Given the description of an element on the screen output the (x, y) to click on. 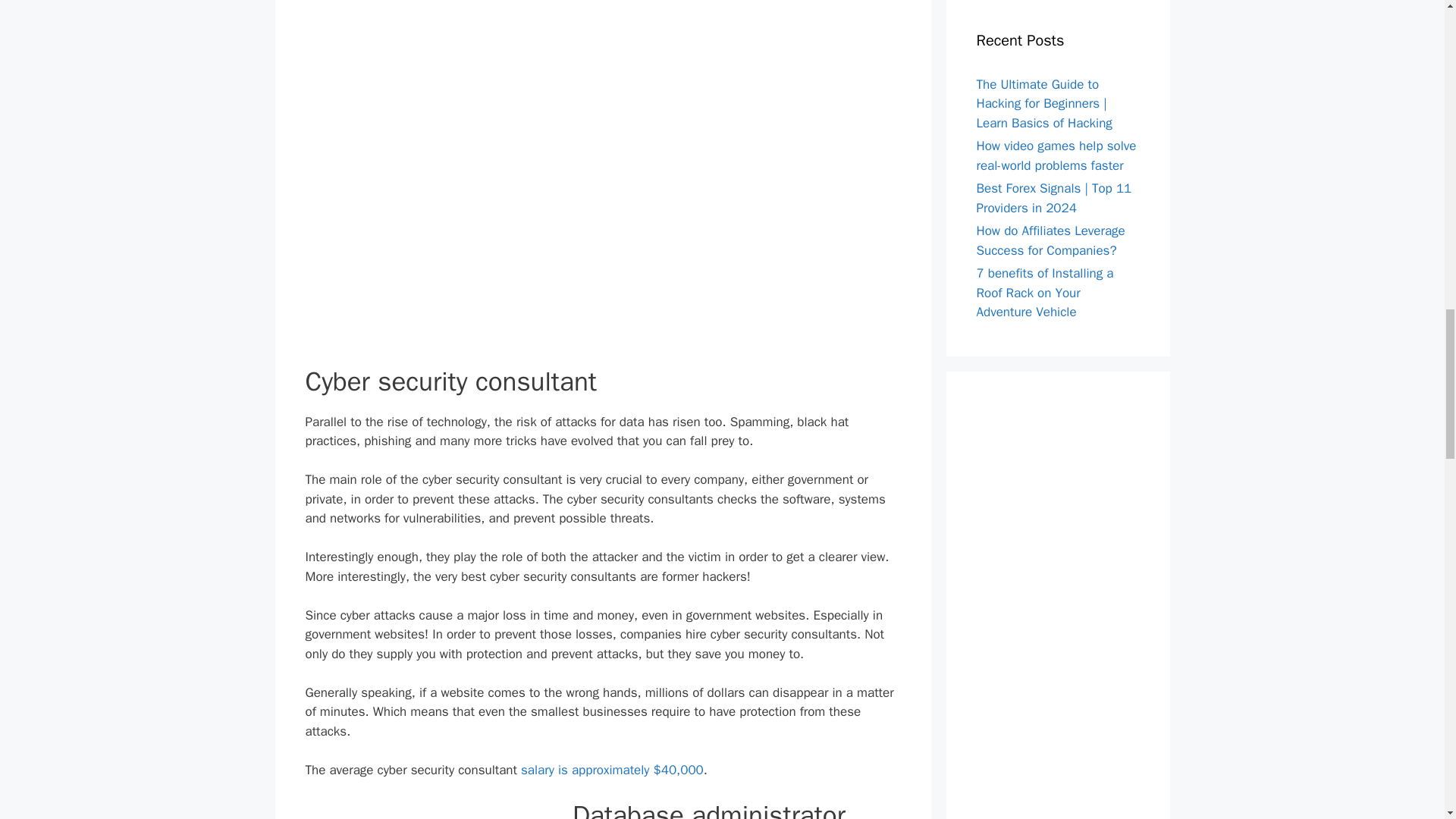
How do Affiliates Leverage Success for Companies? (1050, 240)
How video games help solve real-world problems faster (1056, 155)
